Given the description of an element on the screen output the (x, y) to click on. 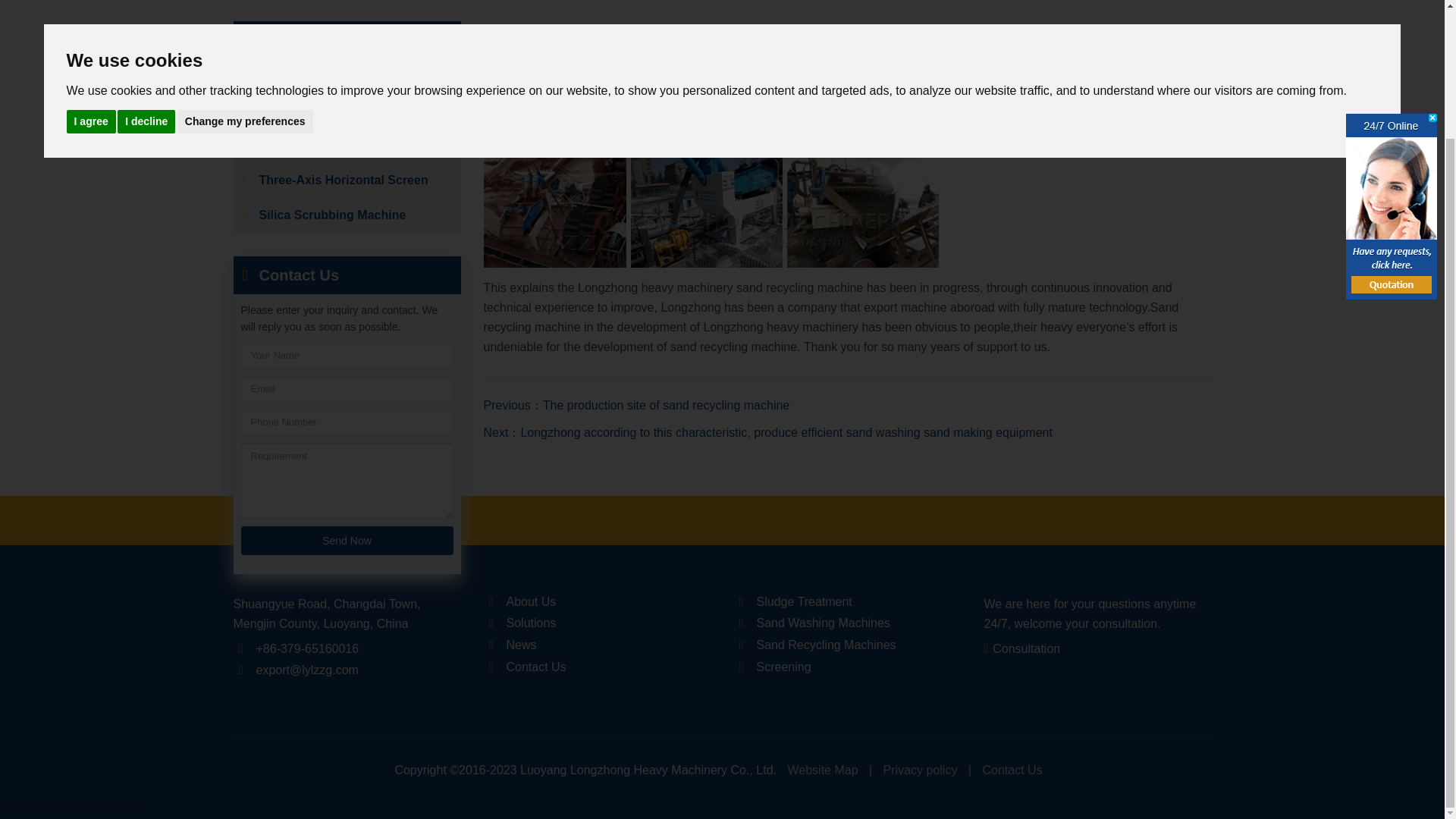
The production site of sand recycling machine (666, 404)
Send Now (346, 540)
About Us (531, 601)
Gravity Thickener (346, 76)
Send Now (346, 540)
Hot Products (346, 39)
Three-Axis Horizontal Screen (346, 180)
Contact Us (536, 666)
News (521, 644)
Silica Scrubbing Machine (346, 215)
Solutions (531, 622)
Spiral Chute (346, 145)
Contact Us (346, 275)
LSF Hydraulic Classifier (346, 111)
